Given the description of an element on the screen output the (x, y) to click on. 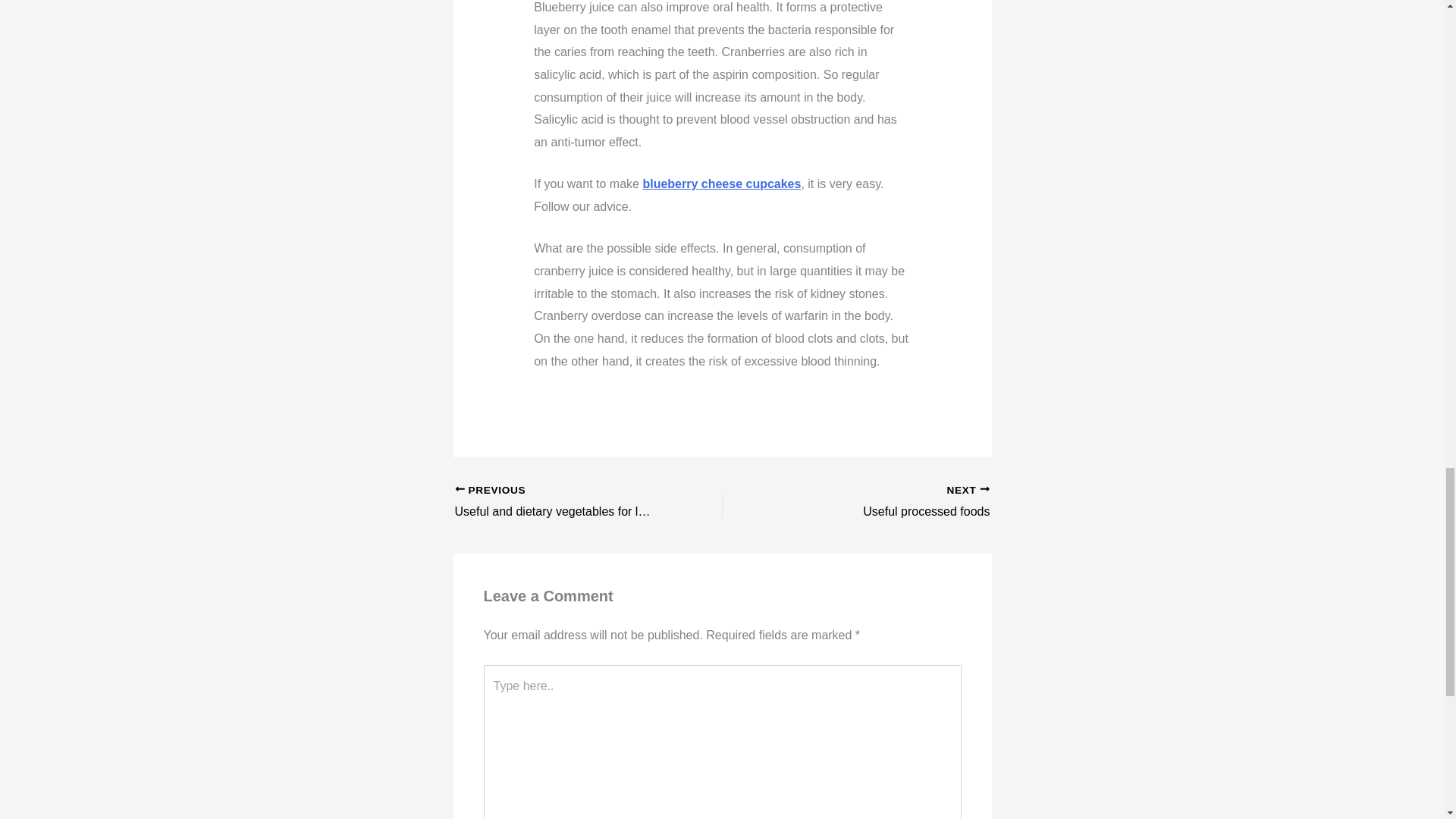
Useful and dietary vegetables for low waist (561, 502)
blueberry cheese cupcakes (561, 502)
Useful processed foods (721, 183)
